Given the description of an element on the screen output the (x, y) to click on. 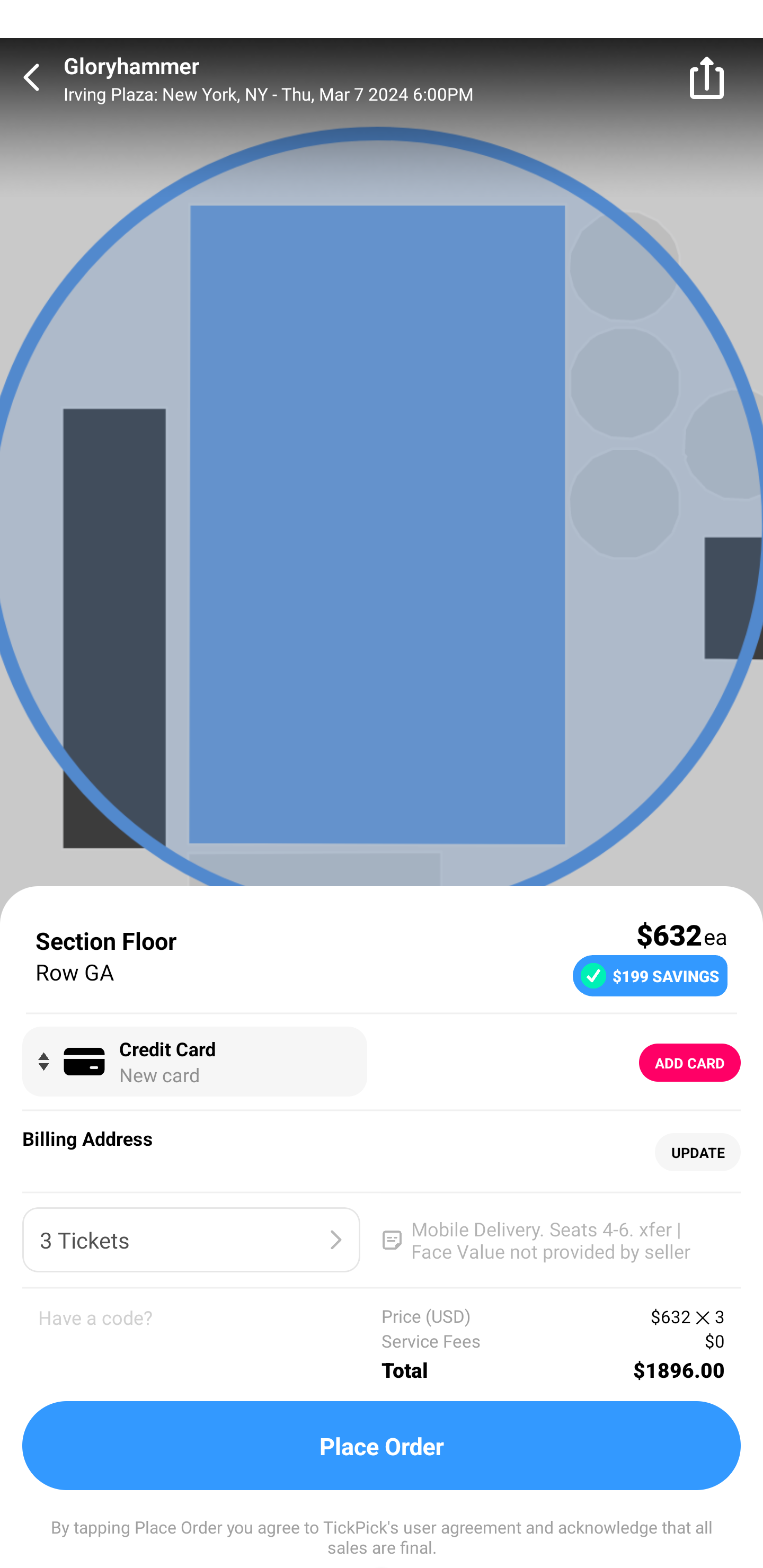
$199 SAVINGS (650, 974)
Credit Card, New card Credit Card New card (194, 1061)
ADD CARD (689, 1062)
UPDATE (697, 1152)
3 Tickets (191, 1239)
Have a code? (209, 1344)
Place Order (381, 1445)
